Given the description of an element on the screen output the (x, y) to click on. 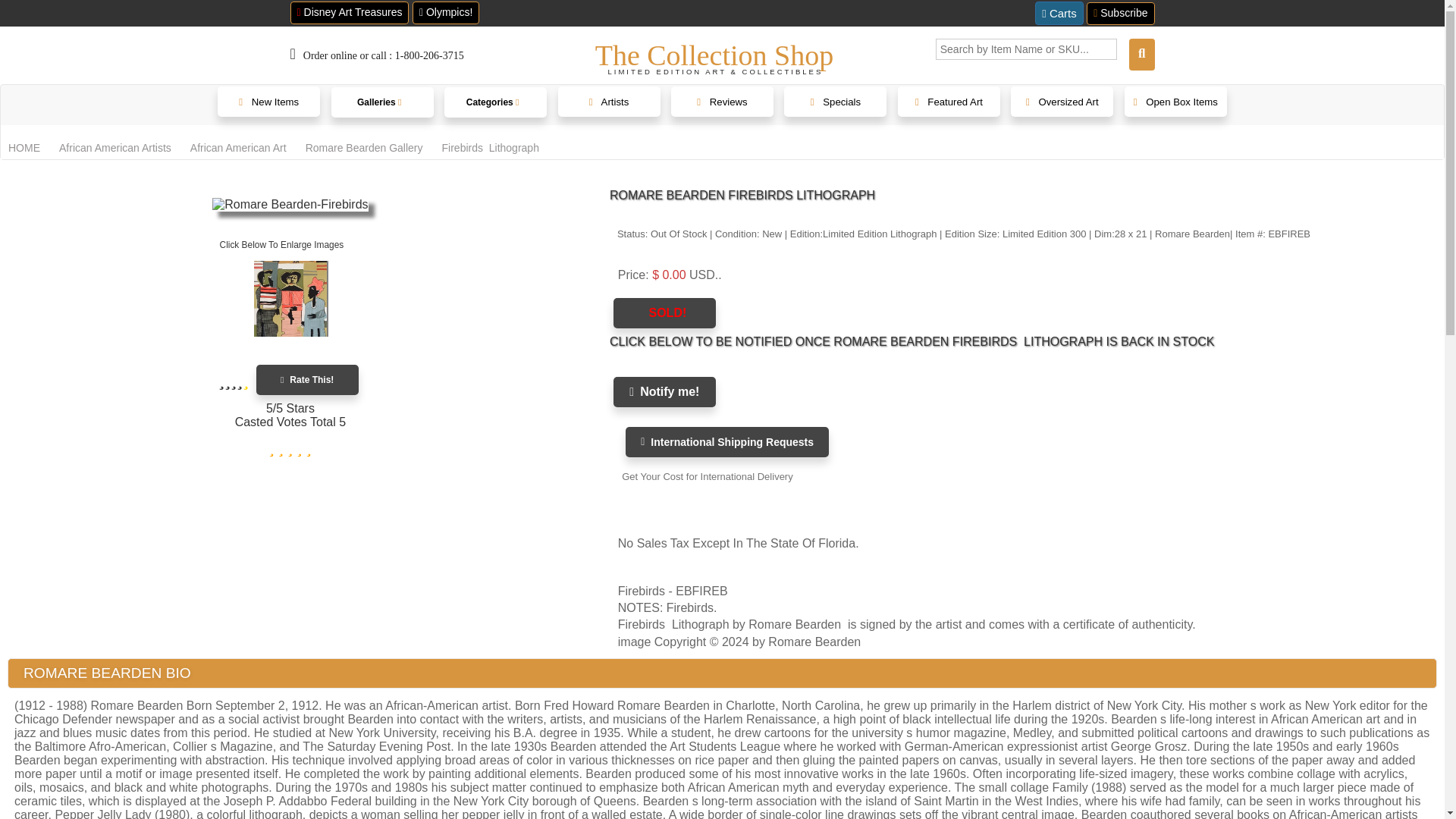
Carts (1059, 13)
Disney Art Treasures (349, 12)
New Items (268, 101)
Subscribe (1120, 13)
Olympics! (445, 12)
Galleries (382, 101)
Categories (495, 101)
